Given the description of an element on the screen output the (x, y) to click on. 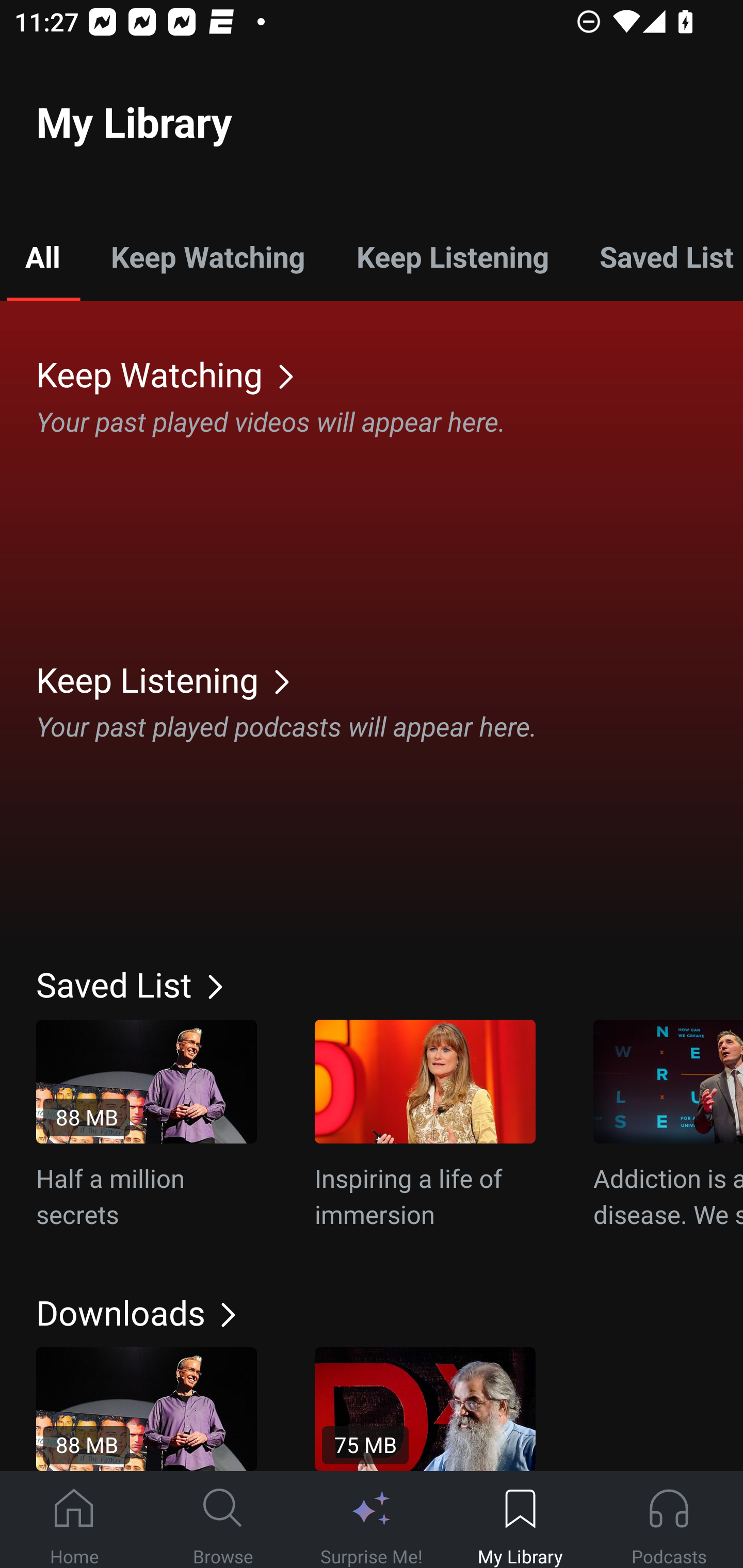
All (42, 256)
Keep Watching (207, 256)
Keep Listening (452, 256)
Saved List (658, 256)
Keep Watching (389, 373)
Keep Listening (389, 679)
Saved List (389, 983)
88 MB Half a million secrets (146, 1125)
Inspiring a life of immersion (425, 1125)
Downloads (389, 1312)
88 MB (146, 1408)
75 MB (425, 1408)
Home (74, 1520)
Browse (222, 1520)
Surprise Me! (371, 1520)
My Library (519, 1520)
Podcasts (668, 1520)
